Given the description of an element on the screen output the (x, y) to click on. 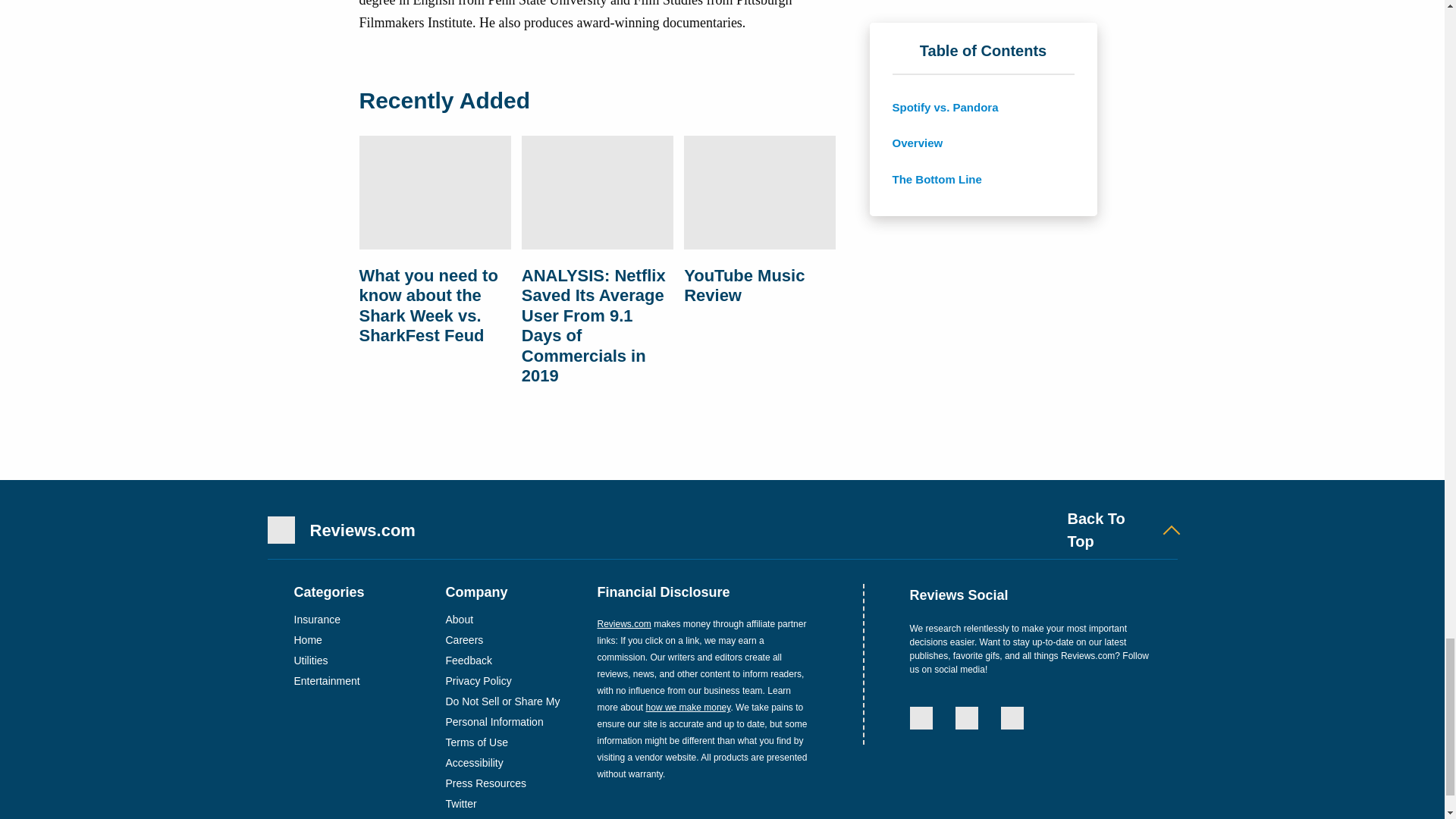
YouTube Music Review (759, 195)
